Given the description of an element on the screen output the (x, y) to click on. 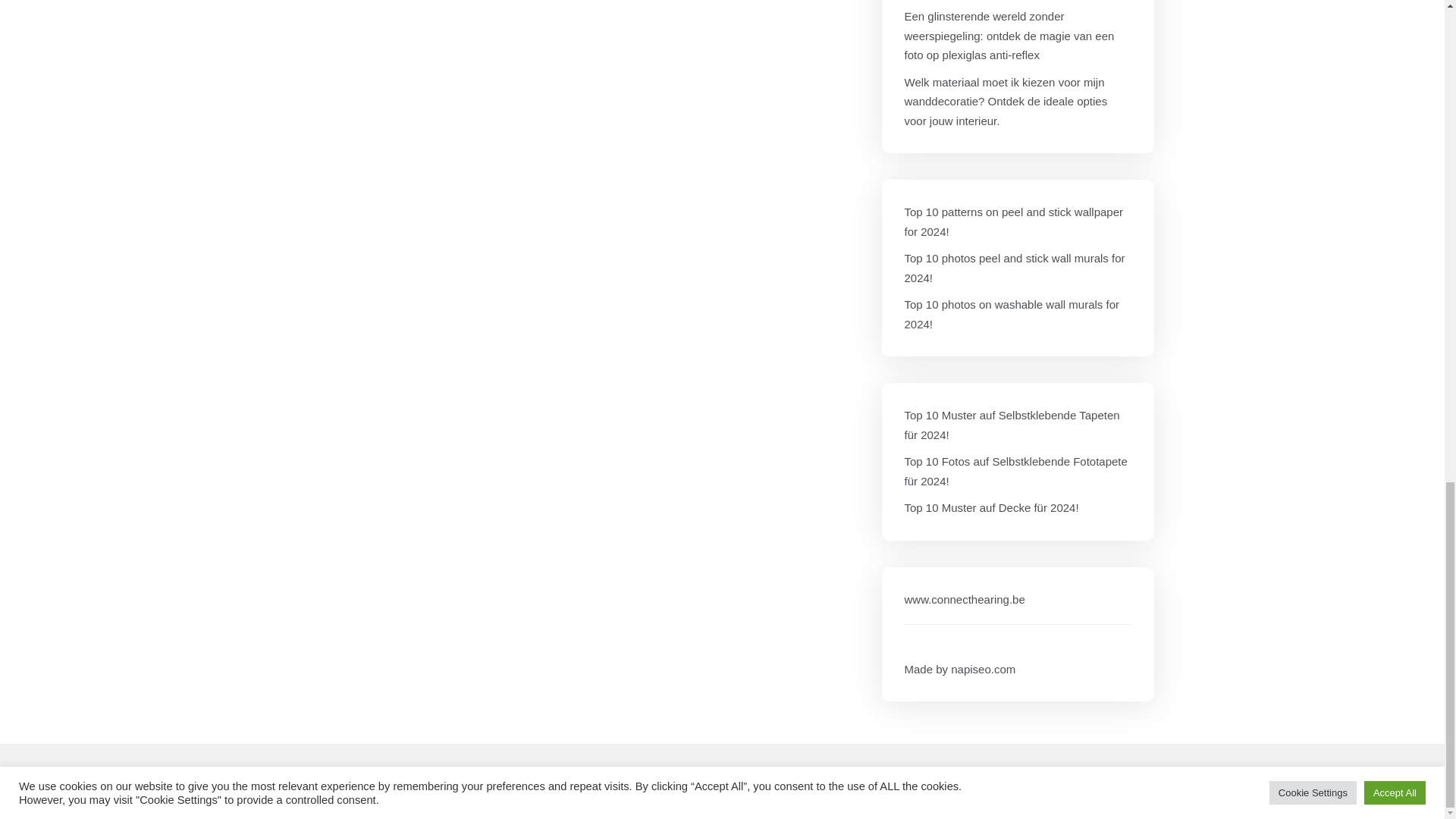
napiseo.com (982, 668)
www.connecthearing.be (964, 599)
